Given the description of an element on the screen output the (x, y) to click on. 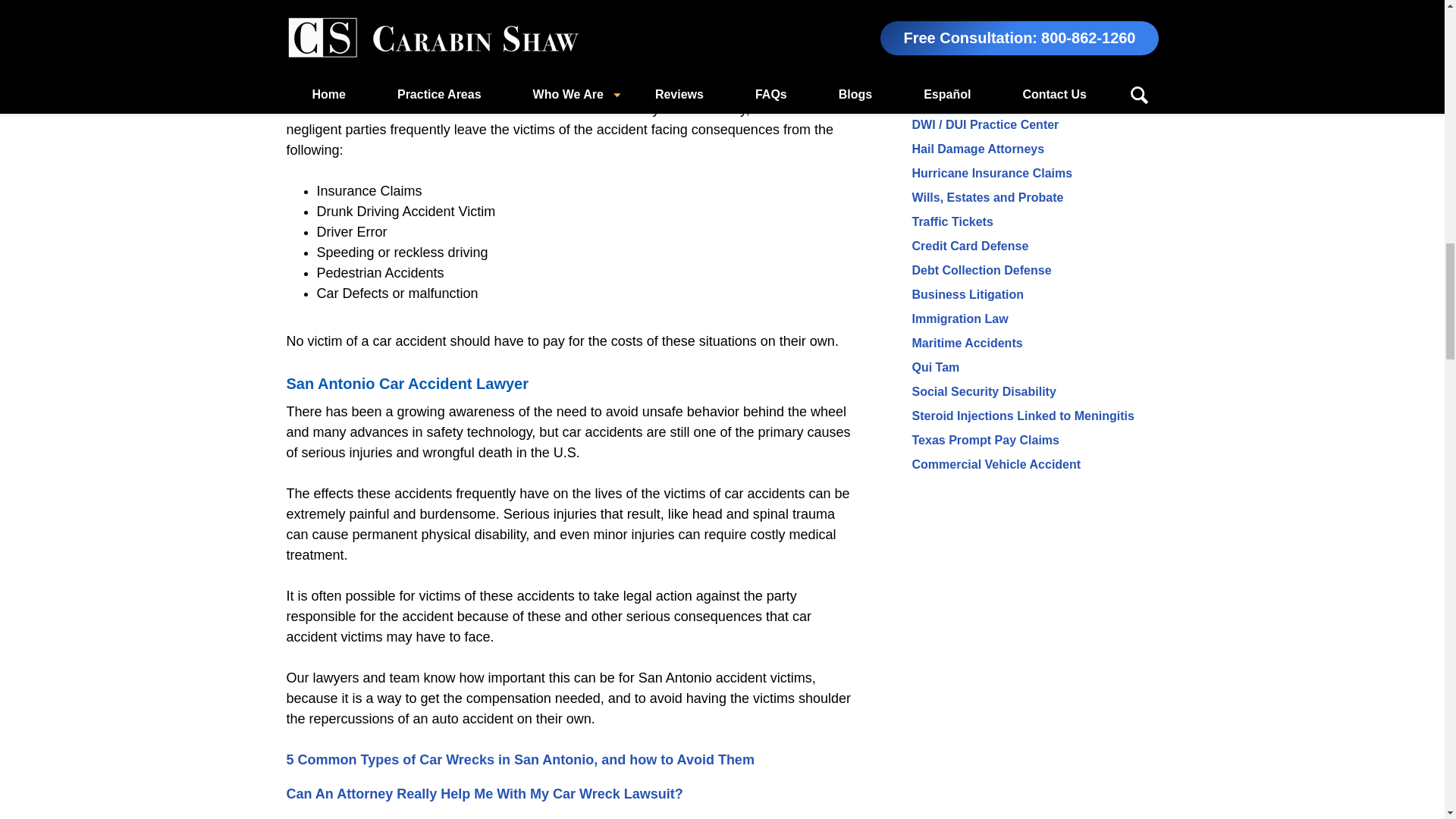
Carabin Shaw (711, 2)
Can An Attorney Really Help Me With My Car Wreck Lawsuit? (484, 793)
